Given the description of an element on the screen output the (x, y) to click on. 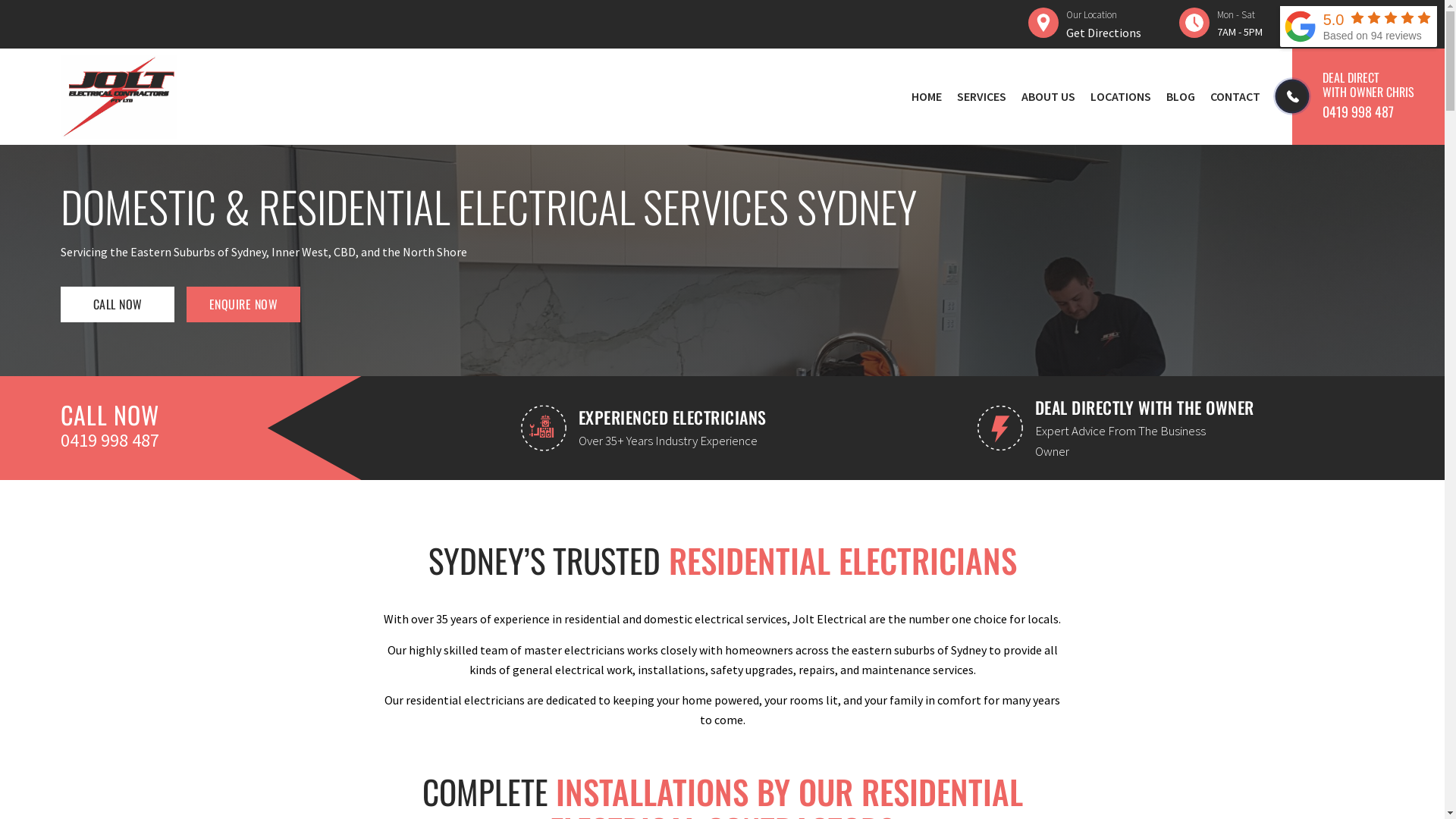
Get Directions Element type: text (1103, 32)
SERVICES Element type: text (981, 95)
CALL NOW Element type: text (117, 304)
BLOG Element type: text (1180, 95)
0419 998 487 Element type: text (133, 439)
ABOUT US Element type: text (1048, 95)
LOCATIONS Element type: text (1120, 95)
HOME Element type: text (926, 95)
CONTACT Element type: text (1235, 95)
ENQUIRE NOW Element type: text (243, 304)
0419 998 487 Element type: text (1383, 111)
